Given the description of an element on the screen output the (x, y) to click on. 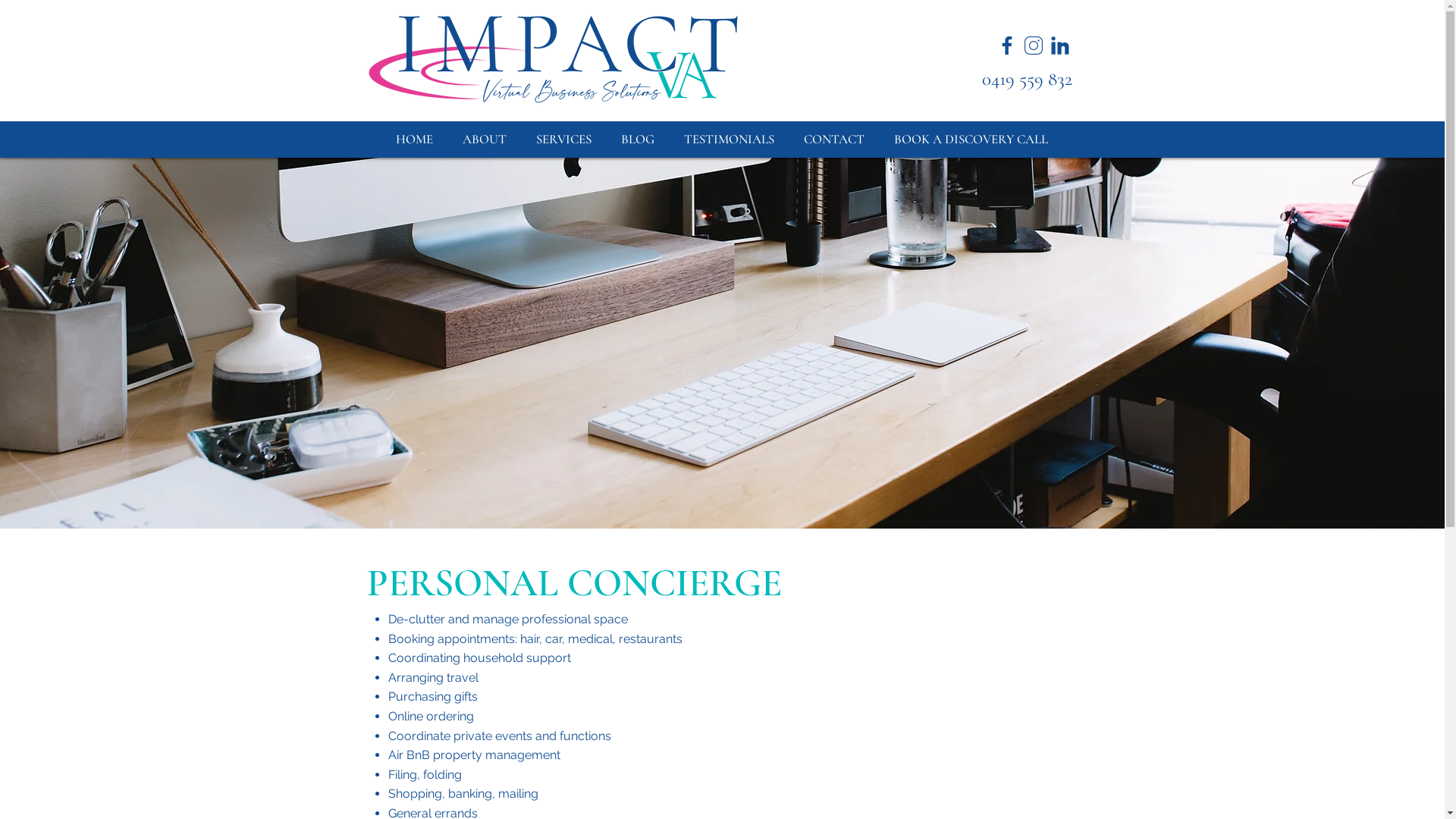
BLOG Element type: text (637, 138)
HOME Element type: text (413, 138)
TESTIMONIALS Element type: text (728, 138)
ABOUT Element type: text (483, 138)
CONTACT Element type: text (833, 138)
0419 559 832 Element type: text (1019, 78)
BOOK A DISCOVERY CALL Element type: text (971, 138)
